Given the description of an element on the screen output the (x, y) to click on. 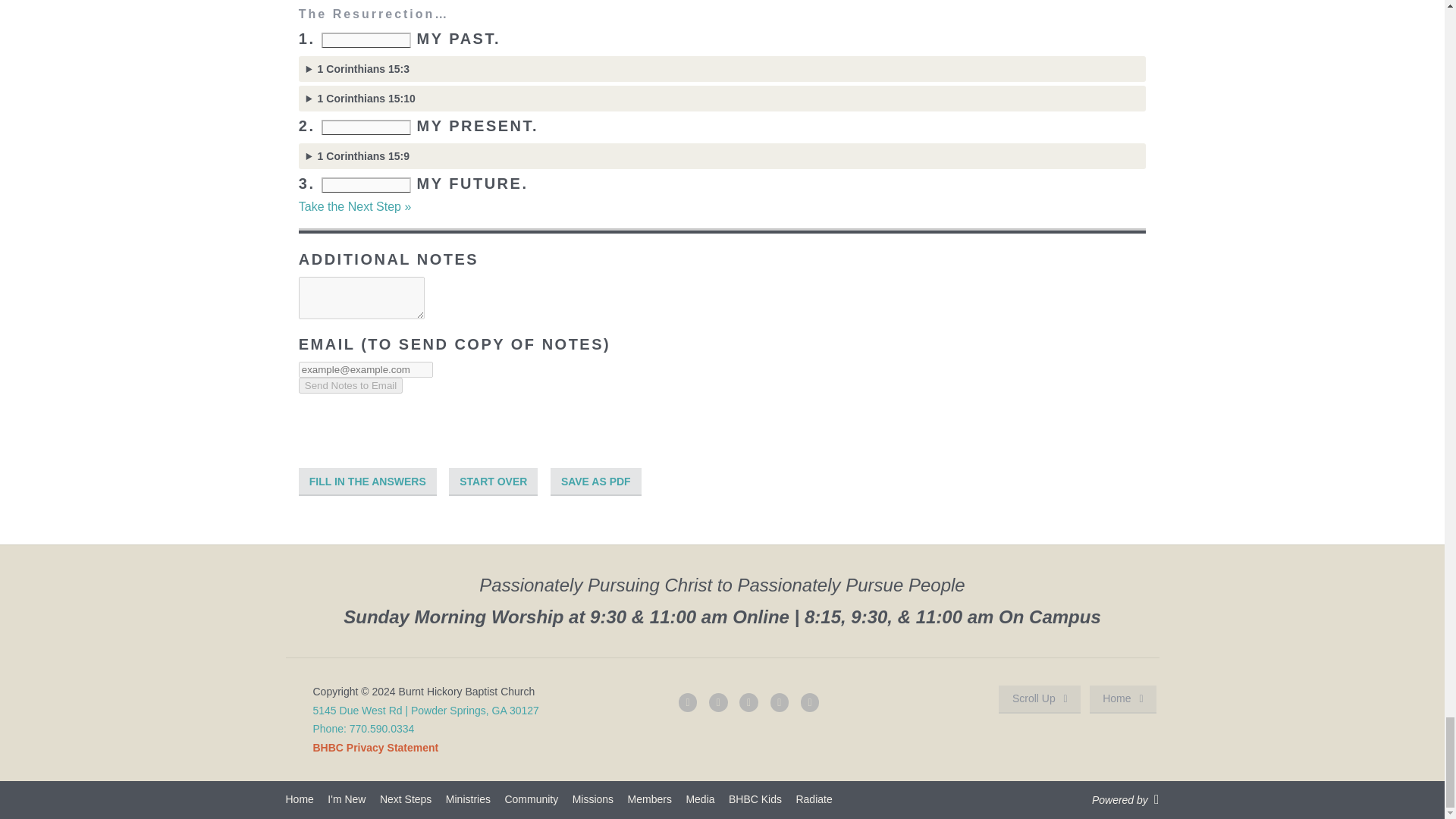
Contact Us (810, 701)
Facebook (719, 701)
Vimeo (780, 701)
YouTube (688, 701)
Instagram (748, 701)
